Given the description of an element on the screen output the (x, y) to click on. 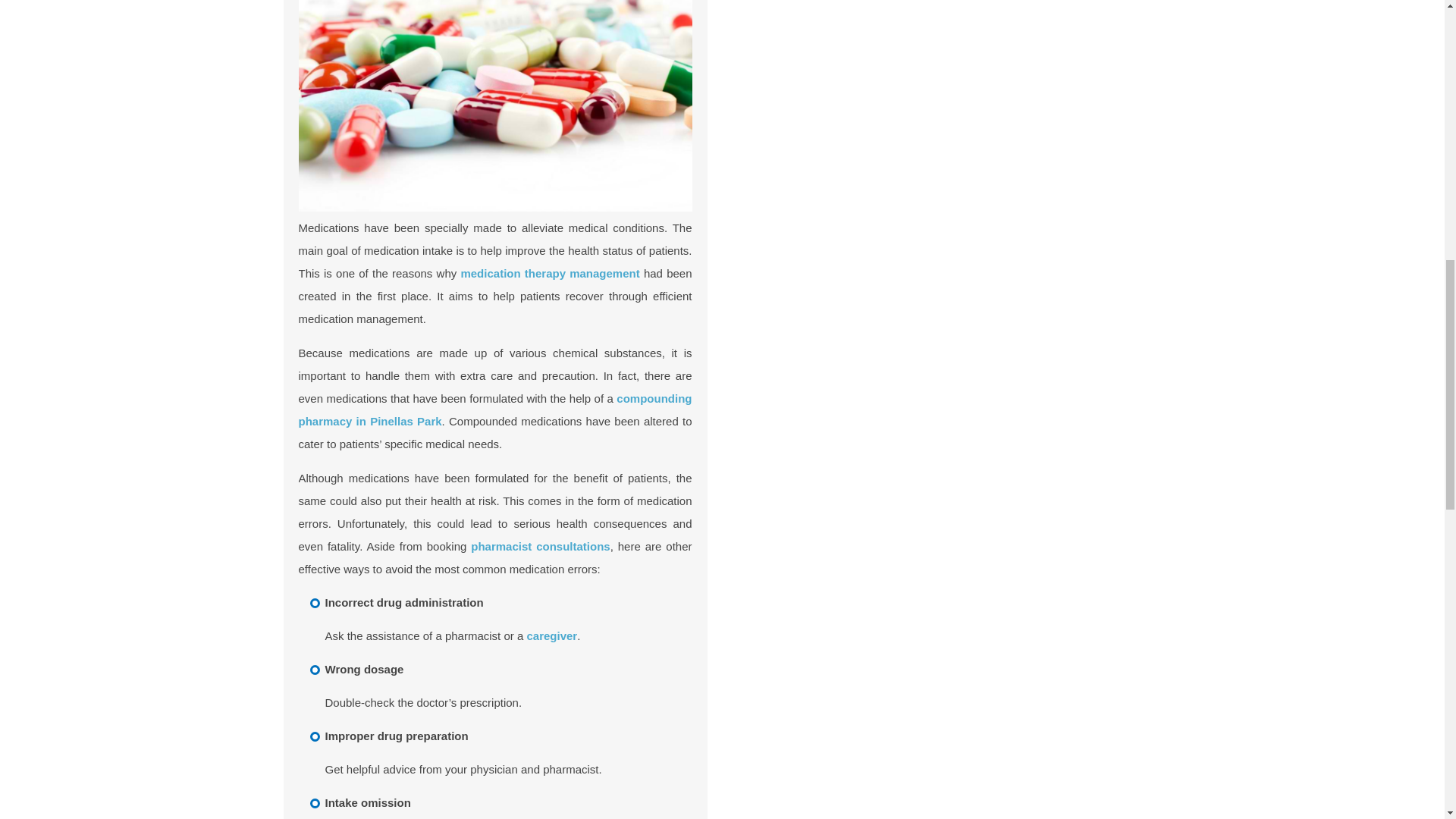
medication therapy management (549, 273)
pharmacist consultations (540, 545)
compounding pharmacy in Pinellas Park (495, 409)
caregiver (550, 635)
